Given the description of an element on the screen output the (x, y) to click on. 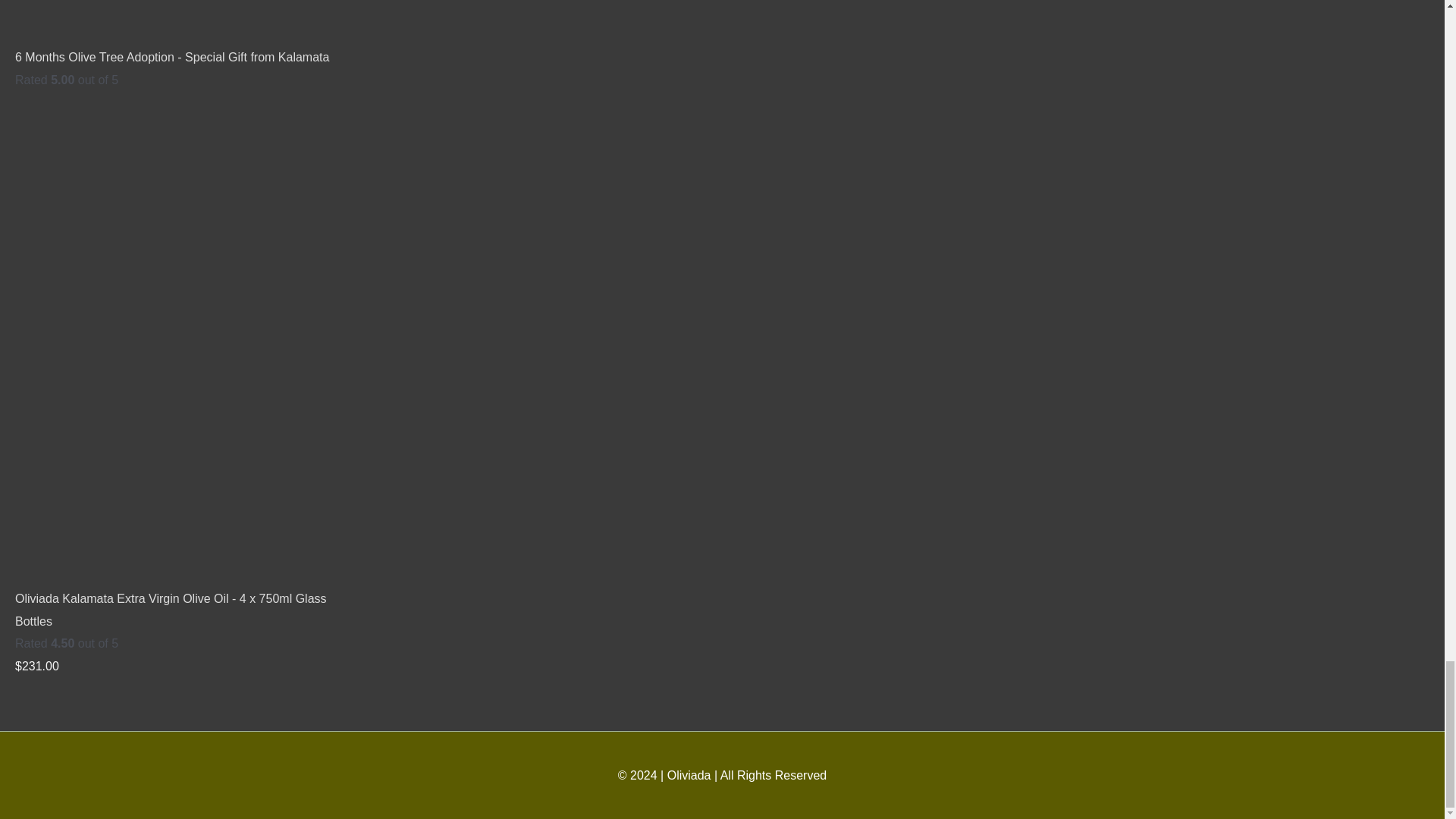
6 Months Olive Tree Adoption - Special Gift from Kalamata (171, 56)
